Given the description of an element on the screen output the (x, y) to click on. 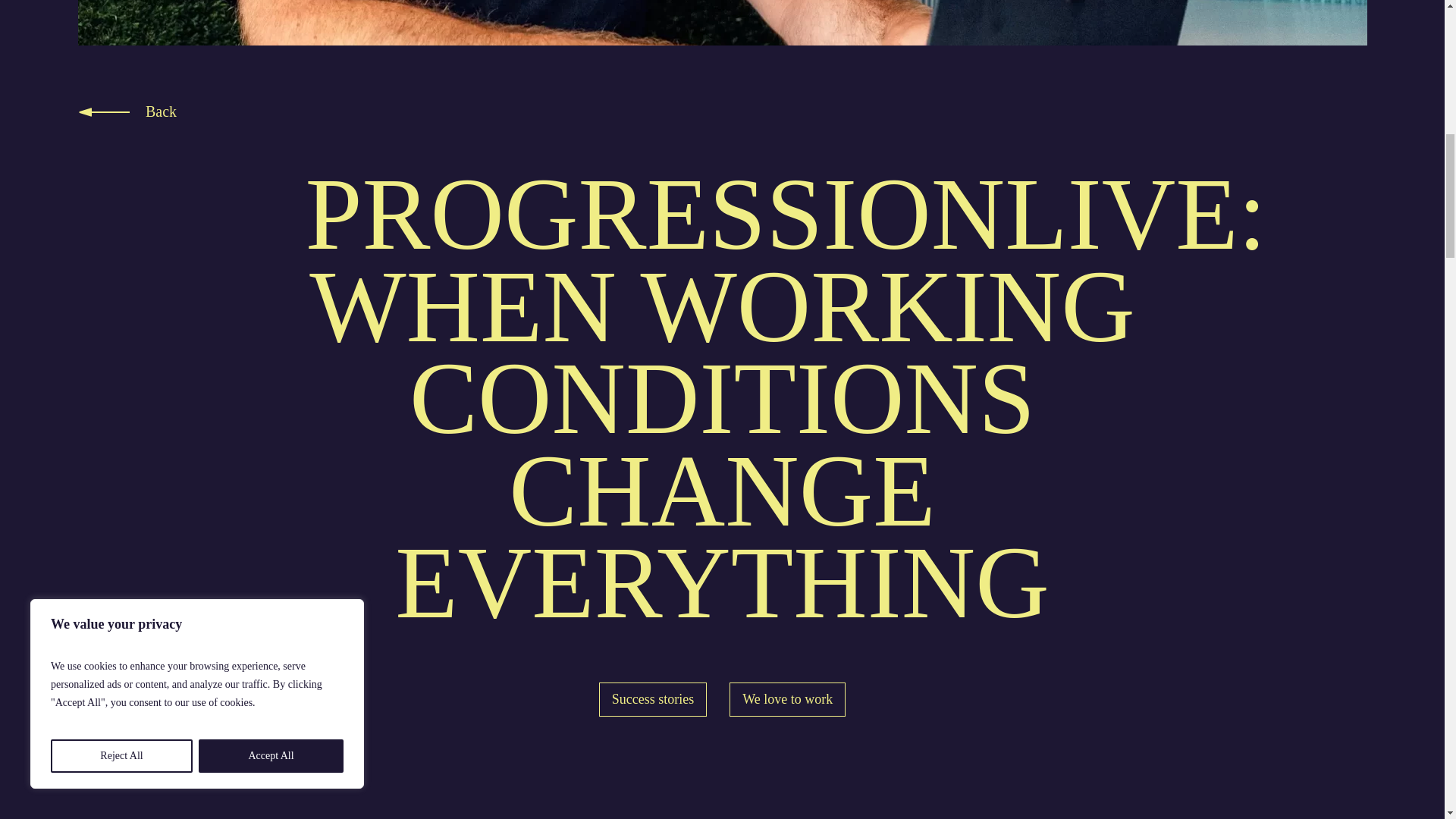
Back (160, 110)
We love to work (787, 699)
Success stories (652, 699)
